Given the description of an element on the screen output the (x, y) to click on. 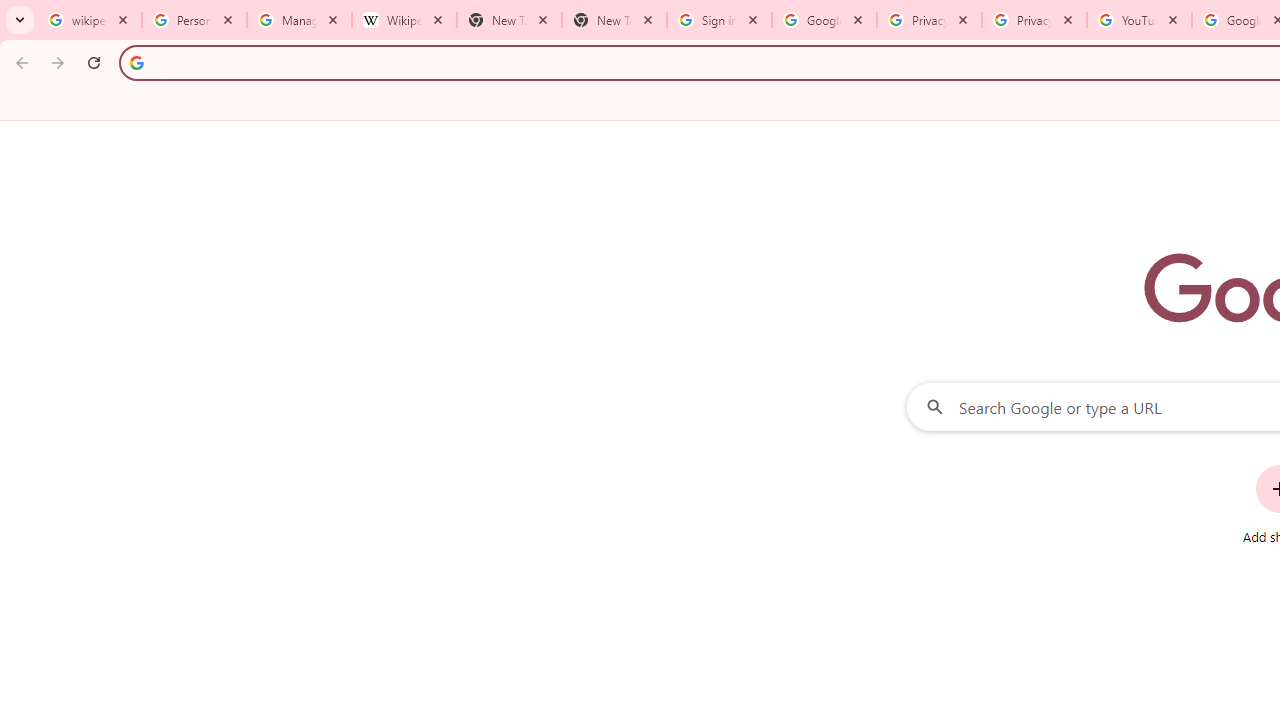
New Tab (613, 20)
